Given the description of an element on the screen output the (x, y) to click on. 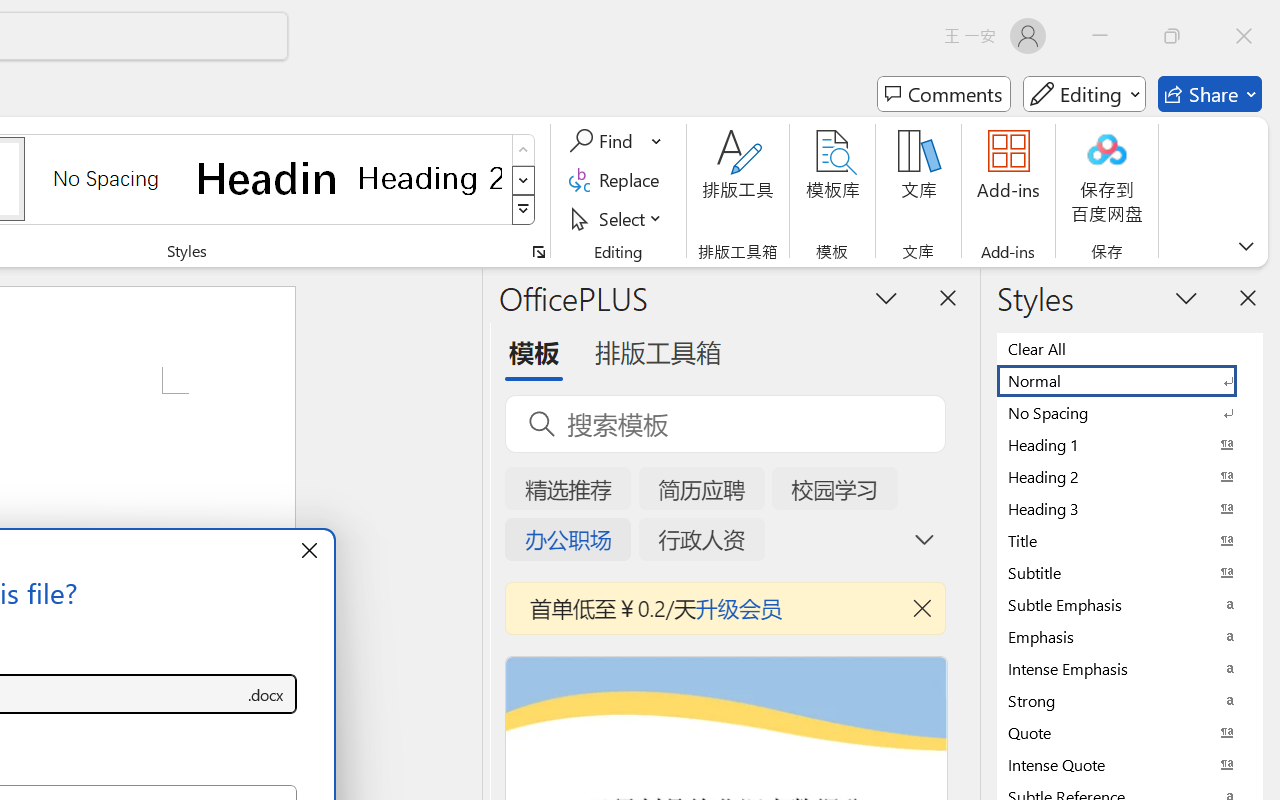
No Spacing (1130, 412)
Intense Emphasis (1130, 668)
Styles (523, 209)
Class: NetUIImage (523, 210)
Comments (943, 94)
Title (1130, 540)
Row up (523, 150)
Select (618, 218)
